Given the description of an element on the screen output the (x, y) to click on. 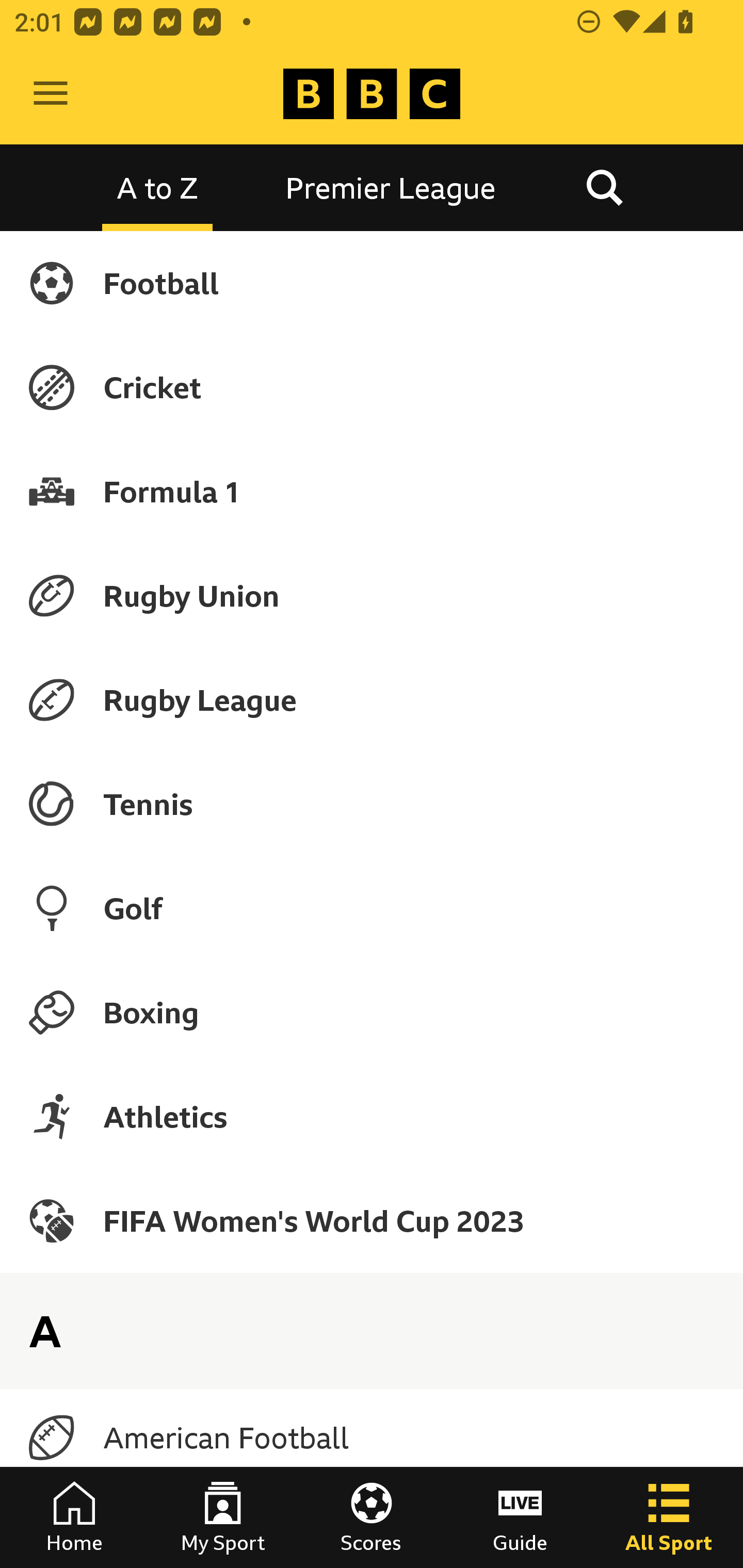
Open Menu (50, 93)
Premier League (390, 187)
Search (604, 187)
Football (371, 282)
Cricket (371, 387)
Formula 1 (371, 491)
Rugby Union (371, 595)
Rugby League (371, 699)
Tennis (371, 804)
Golf (371, 907)
Boxing (371, 1011)
Athletics (371, 1116)
FIFA Women's World Cup 2023 (371, 1220)
American Football (371, 1437)
Home (74, 1517)
My Sport (222, 1517)
Scores (371, 1517)
Guide (519, 1517)
